Given the description of an element on the screen output the (x, y) to click on. 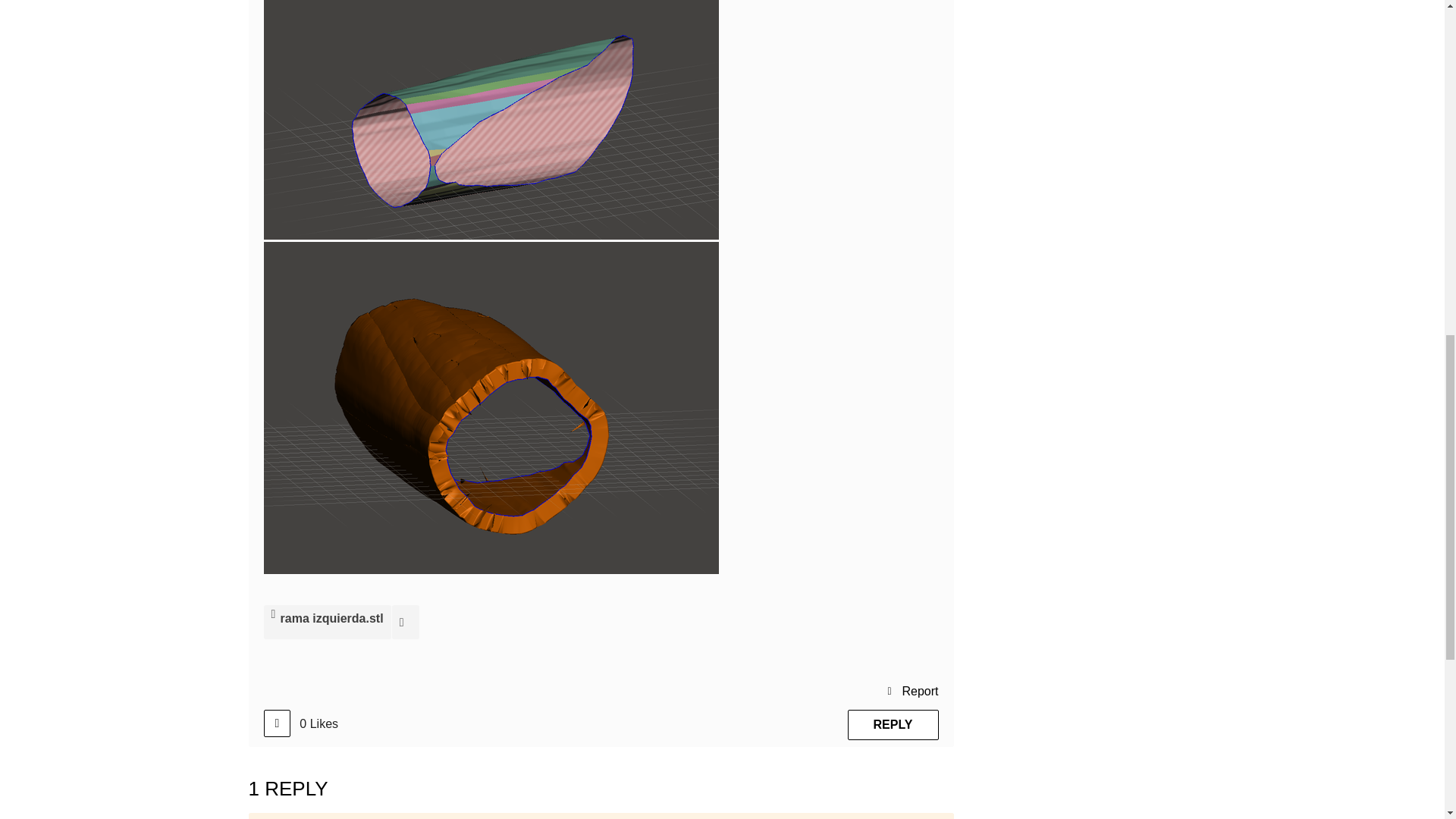
REPLY (893, 725)
Report (911, 690)
